Given the description of an element on the screen output the (x, y) to click on. 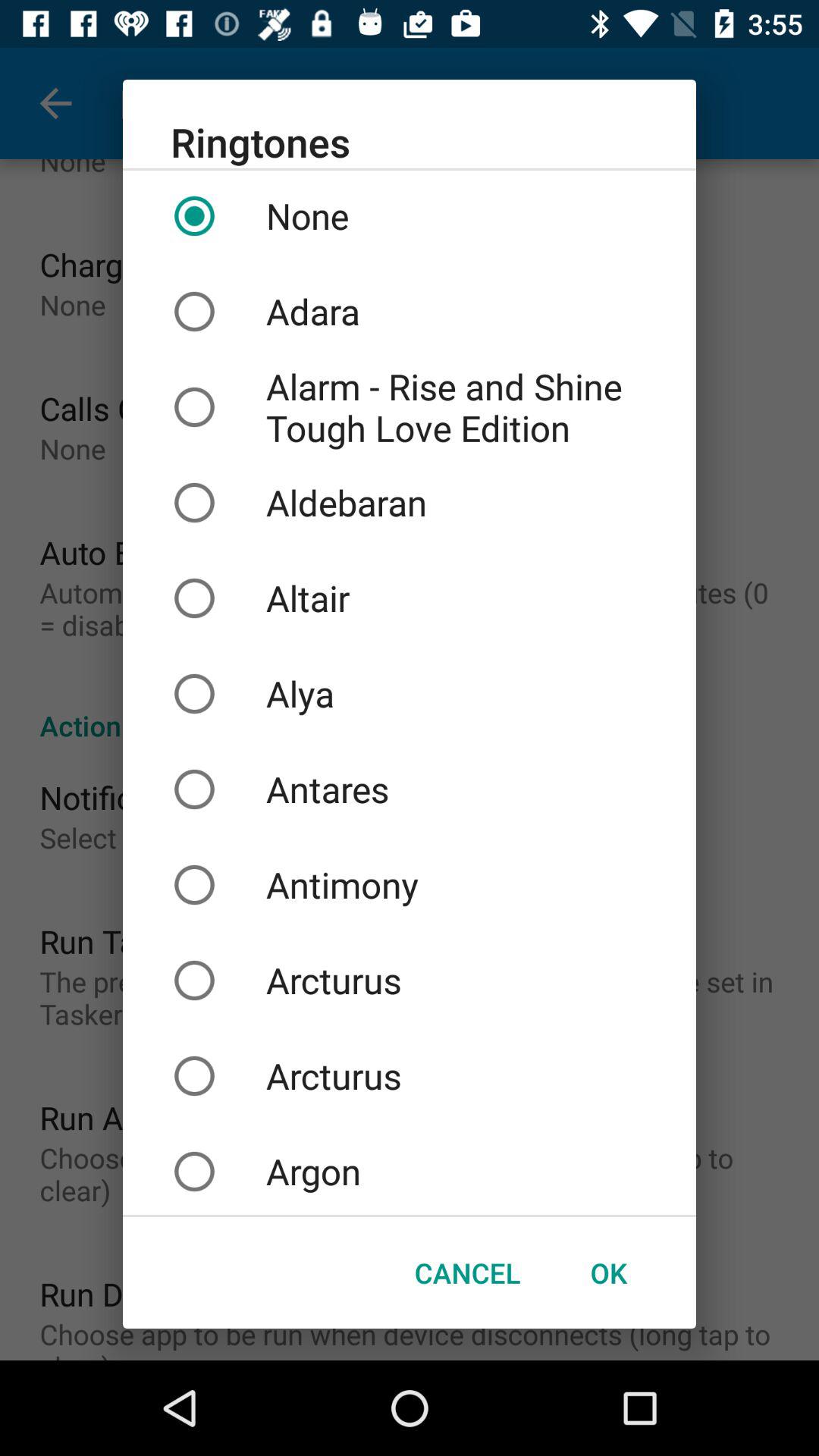
jump to ok icon (608, 1272)
